Given the description of an element on the screen output the (x, y) to click on. 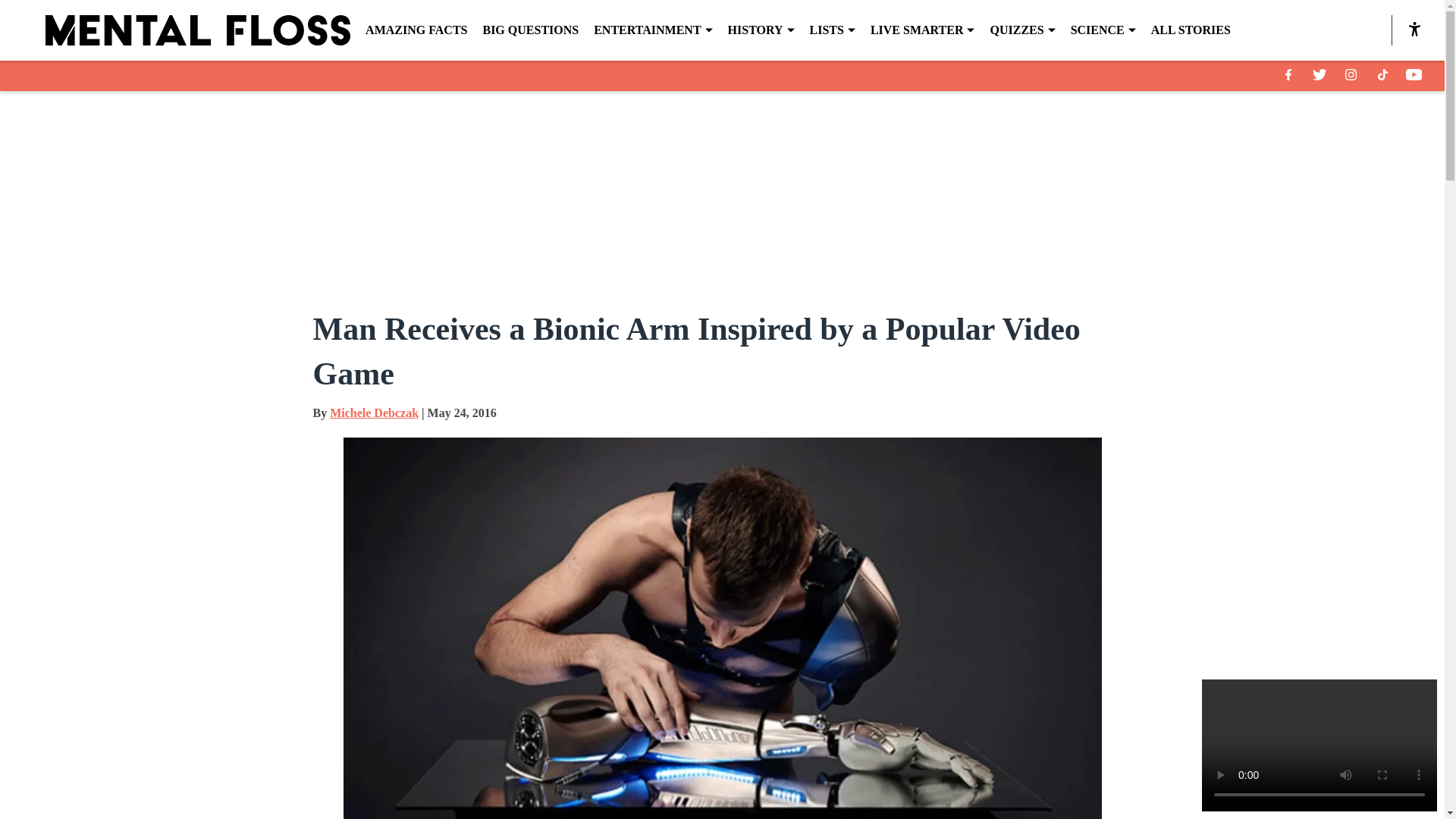
AMAZING FACTS (416, 30)
ALL STORIES (1190, 30)
BIG QUESTIONS (529, 30)
